Given the description of an element on the screen output the (x, y) to click on. 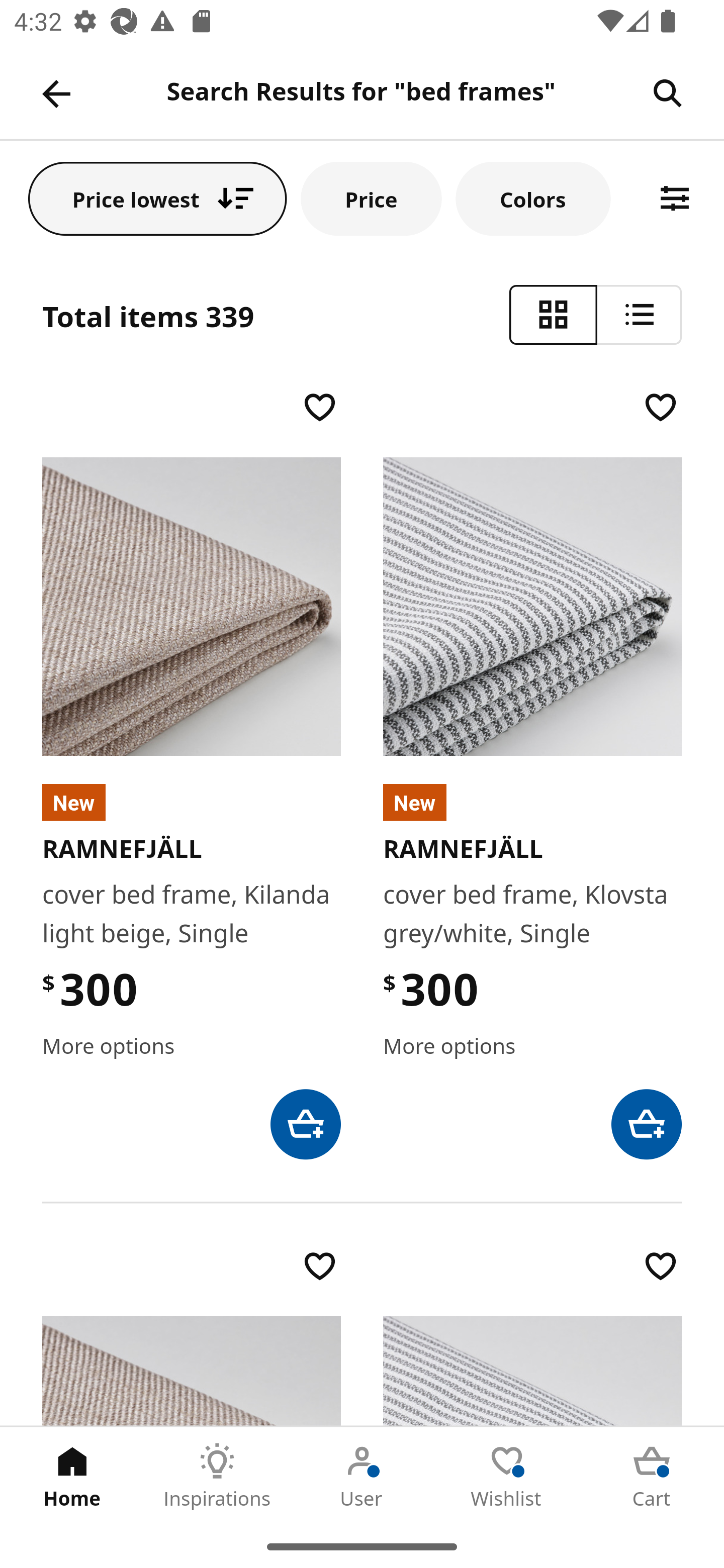
Price lowest (157, 198)
Price (371, 198)
Colors (533, 198)
Home
Tab 1 of 5 (72, 1476)
Inspirations
Tab 2 of 5 (216, 1476)
User
Tab 3 of 5 (361, 1476)
Wishlist
Tab 4 of 5 (506, 1476)
Cart
Tab 5 of 5 (651, 1476)
